Given the description of an element on the screen output the (x, y) to click on. 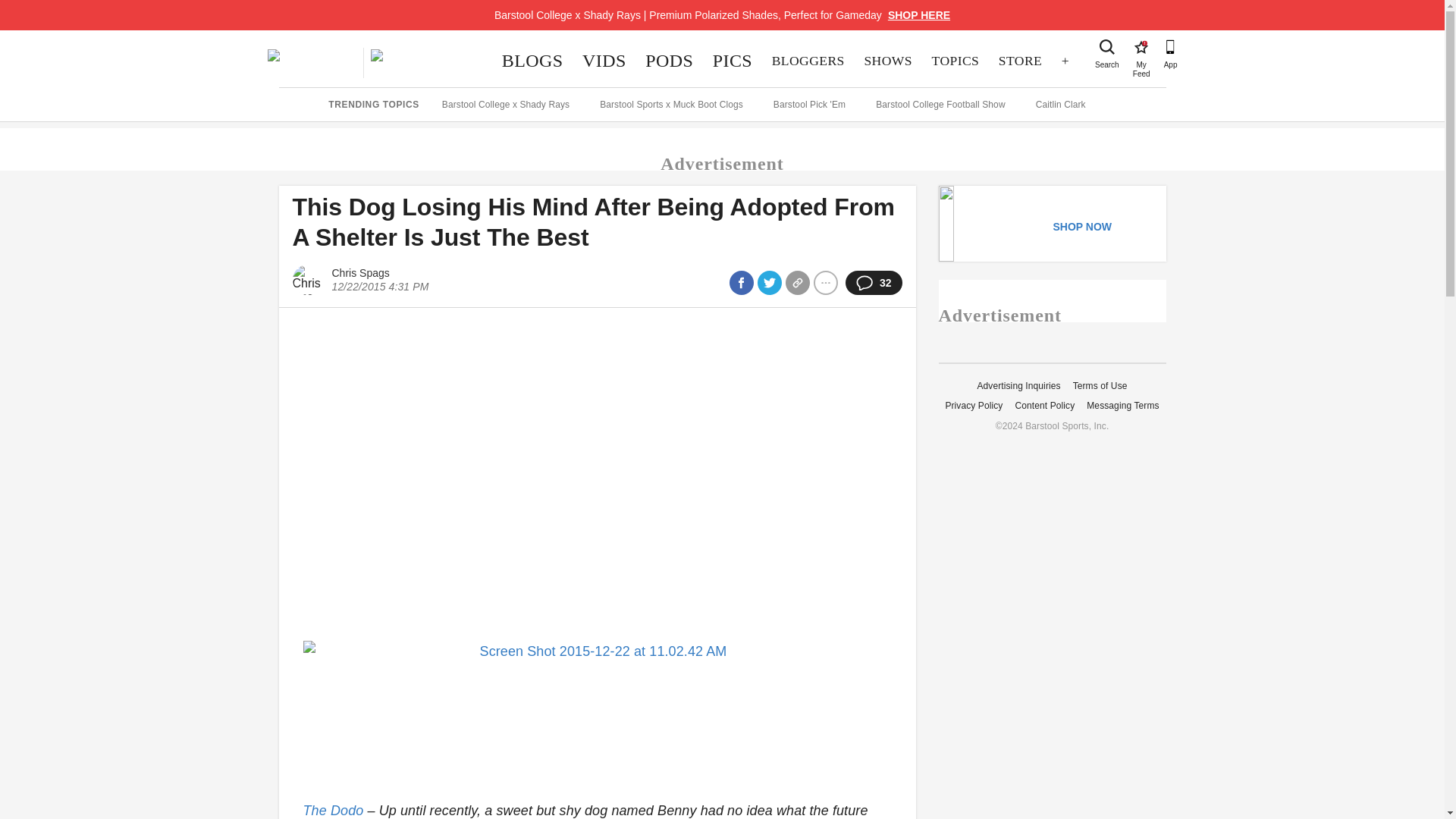
PICS (732, 60)
SHOP HERE (919, 15)
Search (1107, 46)
BLOGS (532, 60)
BLOGGERS (807, 60)
TOPICS (1141, 46)
PODS (954, 60)
VIDS (668, 60)
STORE (603, 60)
